Given the description of an element on the screen output the (x, y) to click on. 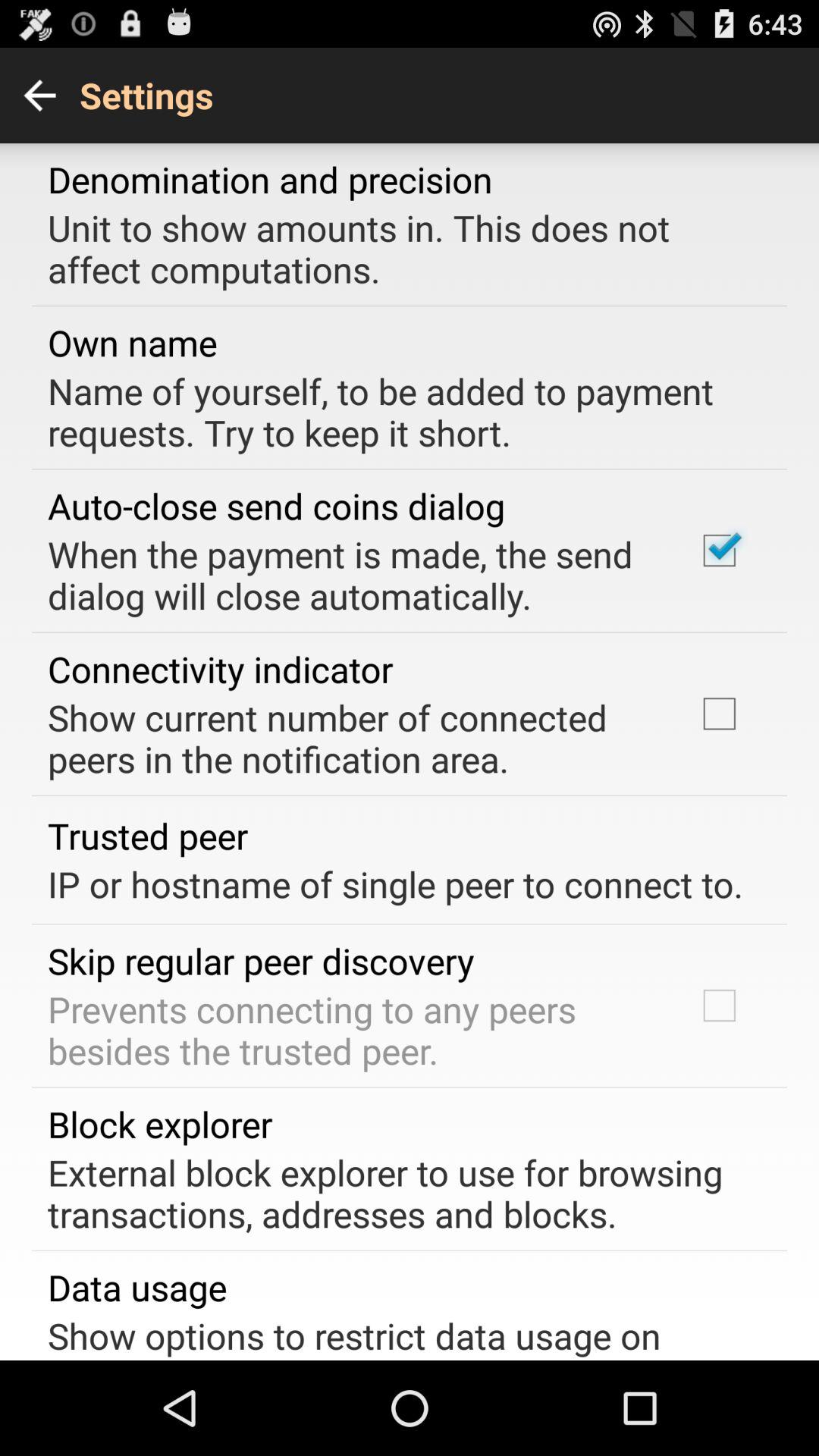
open app below skip regular peer item (351, 1029)
